Given the description of an element on the screen output the (x, y) to click on. 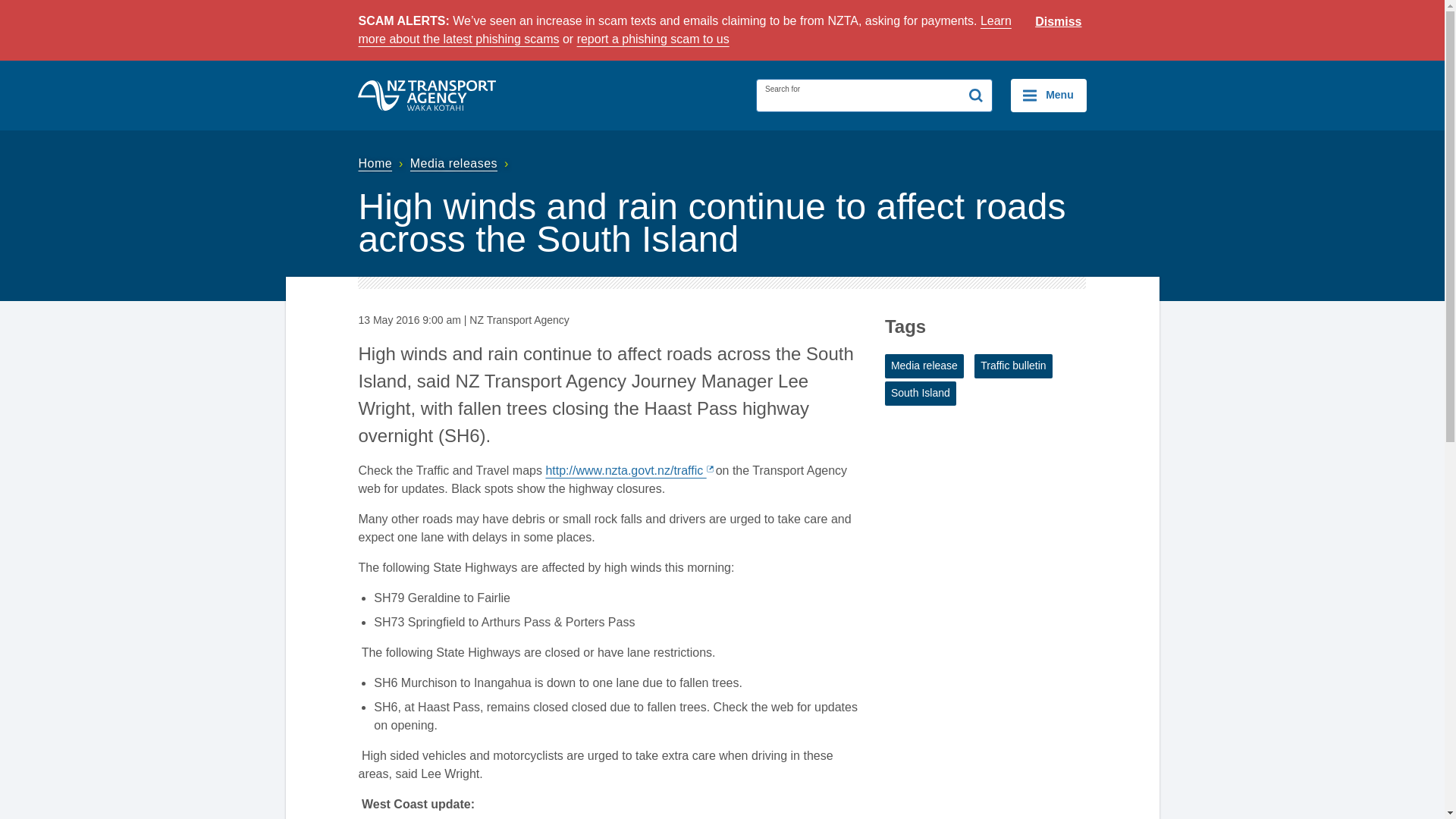
Learn more about the latest phishing scams (684, 29)
Menu (1048, 95)
Media releases (461, 163)
View all posts tagged 'Media release' (924, 365)
View all posts tagged 'South Island' (920, 393)
Dismiss (1058, 21)
View all posts tagged 'Traffic bulletin' (1012, 365)
NZ Transport Agency Waka Kotahi (427, 95)
report a phishing scam to us (652, 38)
Home (382, 163)
